Given the description of an element on the screen output the (x, y) to click on. 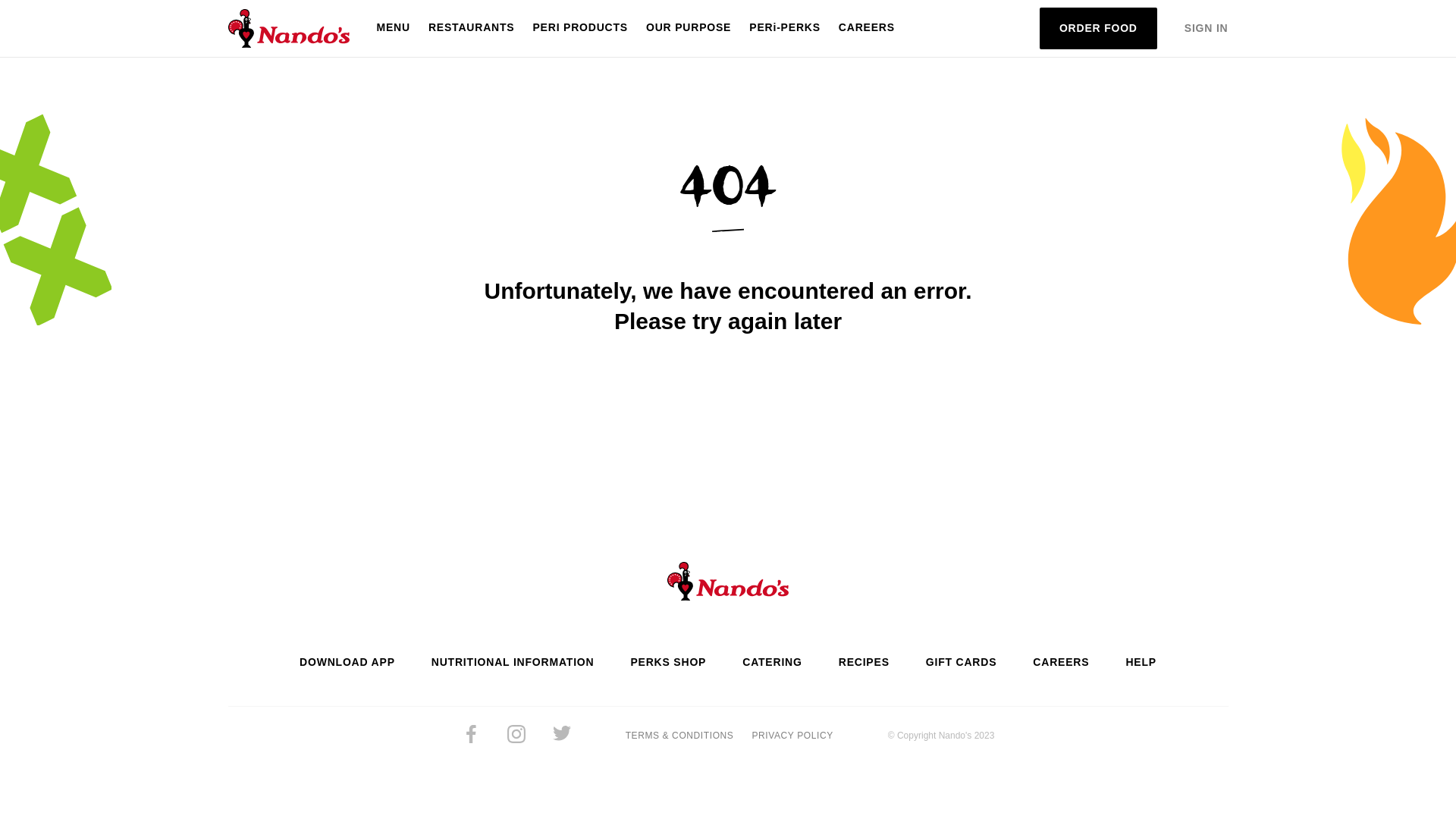
DOWNLOAD APP Element type: text (347, 662)
PERKS SHOP Element type: text (667, 662)
MENU Element type: text (392, 28)
Facebook Element type: text (470, 736)
PERi-PERKS Element type: text (784, 28)
CAREERS Element type: text (1060, 662)
CAREERS Element type: text (866, 28)
NUTRITIONAL INFORMATION Element type: text (512, 662)
GIFT CARDS Element type: text (961, 662)
RECIPES Element type: text (863, 662)
RESTAURANTS Element type: text (471, 28)
PRIVACY POLICY Element type: text (791, 735)
Twitter Element type: text (561, 736)
OUR PURPOSE Element type: text (688, 28)
PERI PRODUCTS Element type: text (580, 28)
ORDER FOOD Element type: text (1098, 28)
SIGN IN Element type: text (1206, 28)
TERMS & CONDITIONS Element type: text (679, 735)
HELP Element type: text (1140, 662)
CATERING Element type: text (771, 662)
Instagram Element type: text (516, 736)
